Given the description of an element on the screen output the (x, y) to click on. 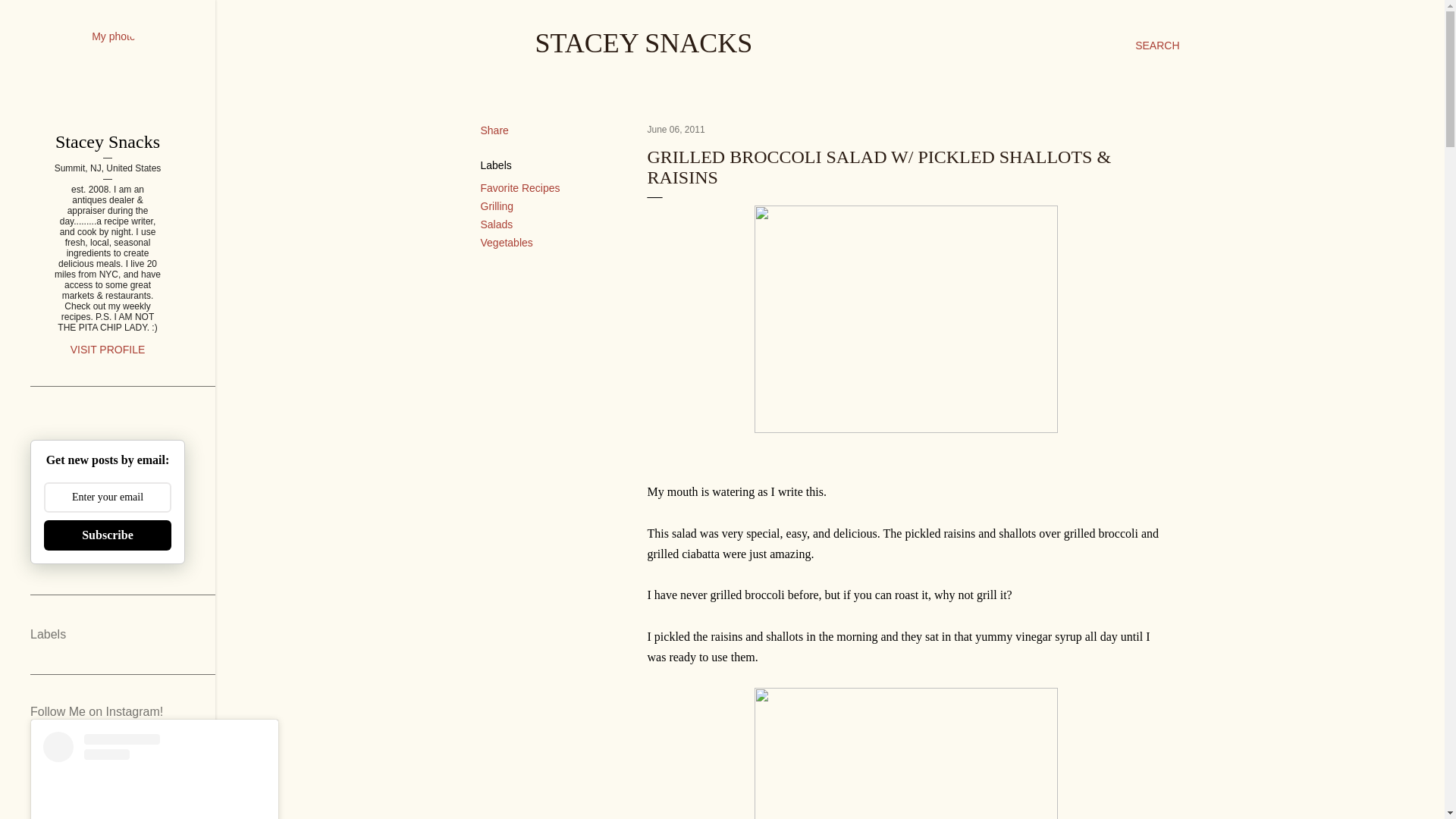
Grilling (496, 205)
June 06, 2011 (675, 129)
Vegetables (506, 242)
permanent link (675, 129)
SEARCH (1157, 45)
Salads (496, 224)
STACEY SNACKS (643, 42)
Share (494, 130)
Favorite Recipes (520, 187)
